Given the description of an element on the screen output the (x, y) to click on. 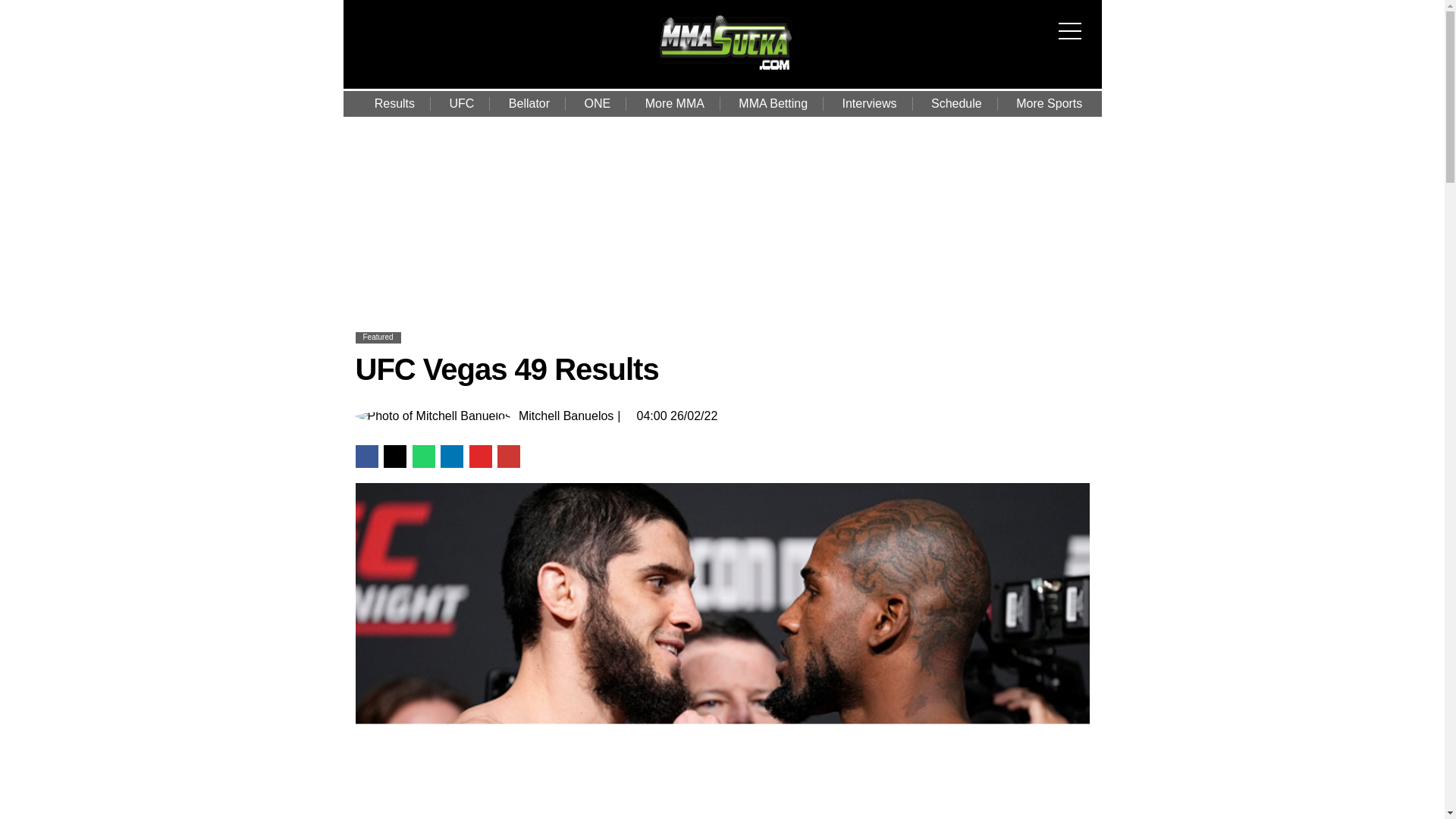
UFC (461, 103)
Menu (1074, 21)
Back to the homepage (725, 70)
Bellator (528, 103)
Results (394, 103)
More MMA (674, 103)
ONE (597, 103)
